Given the description of an element on the screen output the (x, y) to click on. 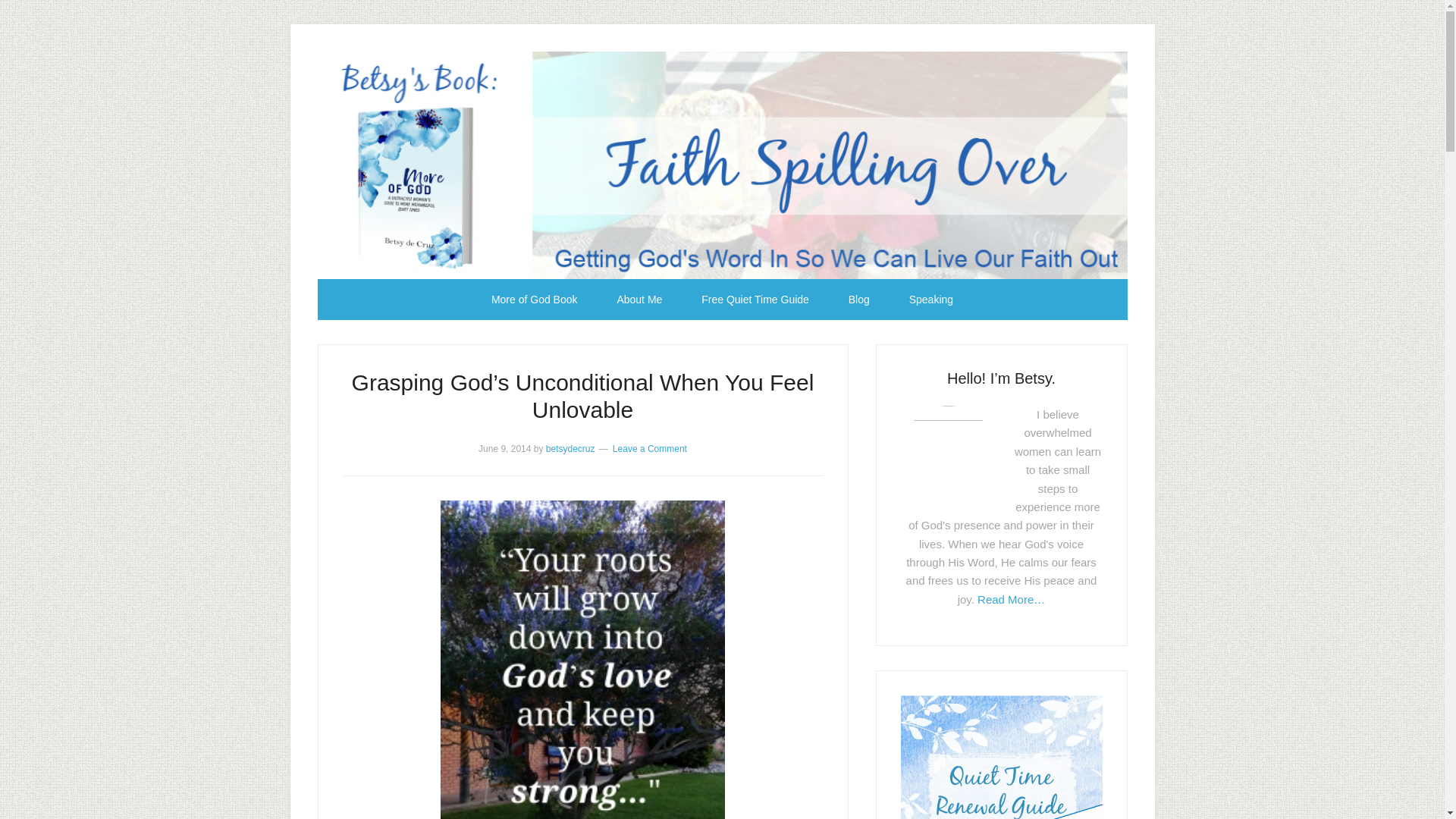
About Me (638, 299)
betsydecruz (570, 448)
Speaking (931, 299)
Free Quiet Time Guide (754, 299)
More of God Book (534, 299)
Leave a Comment (649, 448)
Blog (858, 299)
